Given the description of an element on the screen output the (x, y) to click on. 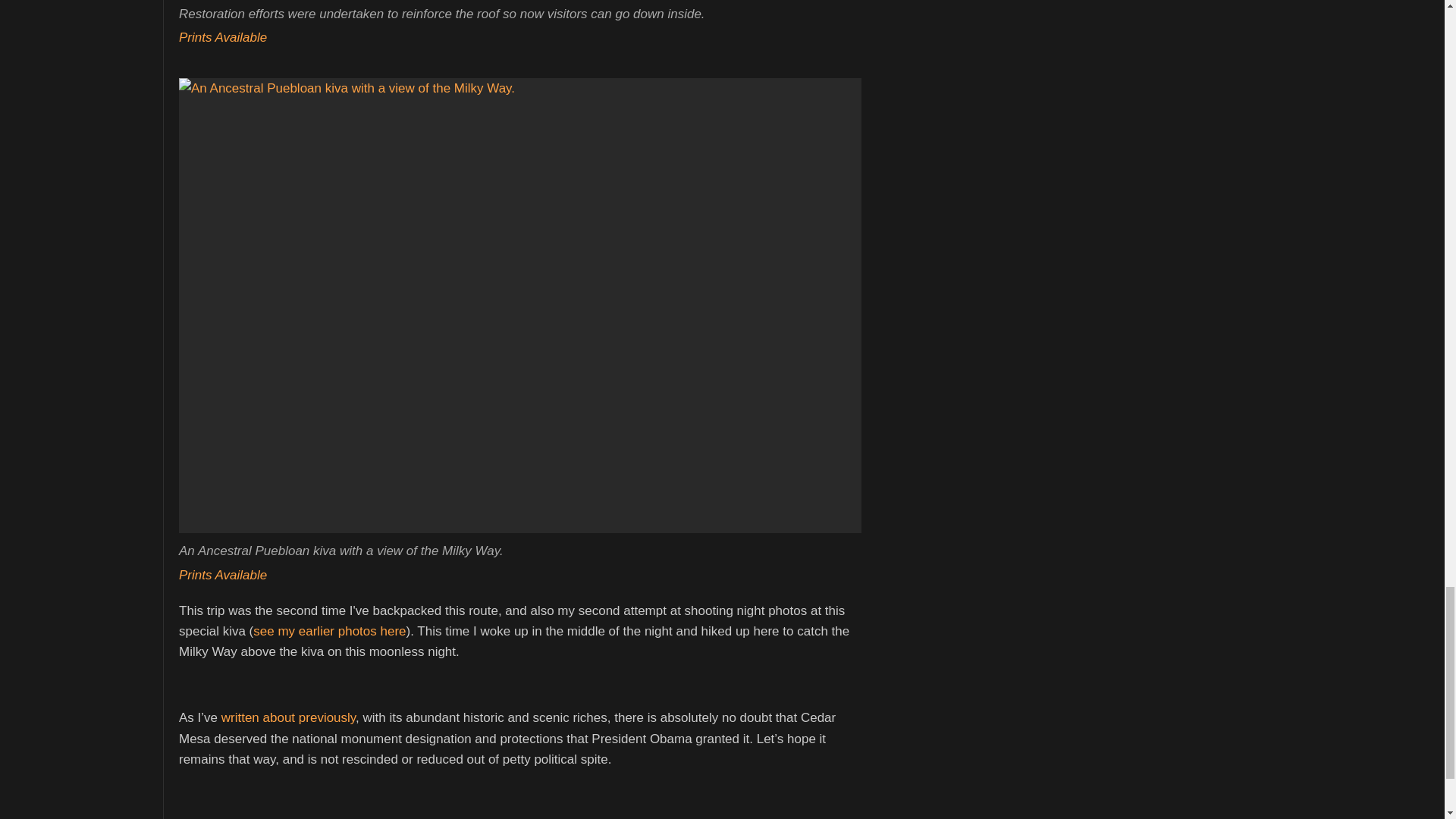
see my earlier photos here (329, 631)
Prints Available (222, 575)
Prints Available (222, 37)
Cedar Mesa (713, 818)
Grand Gulch (634, 818)
written about previously (288, 717)
Bears Ears (787, 818)
